Given the description of an element on the screen output the (x, y) to click on. 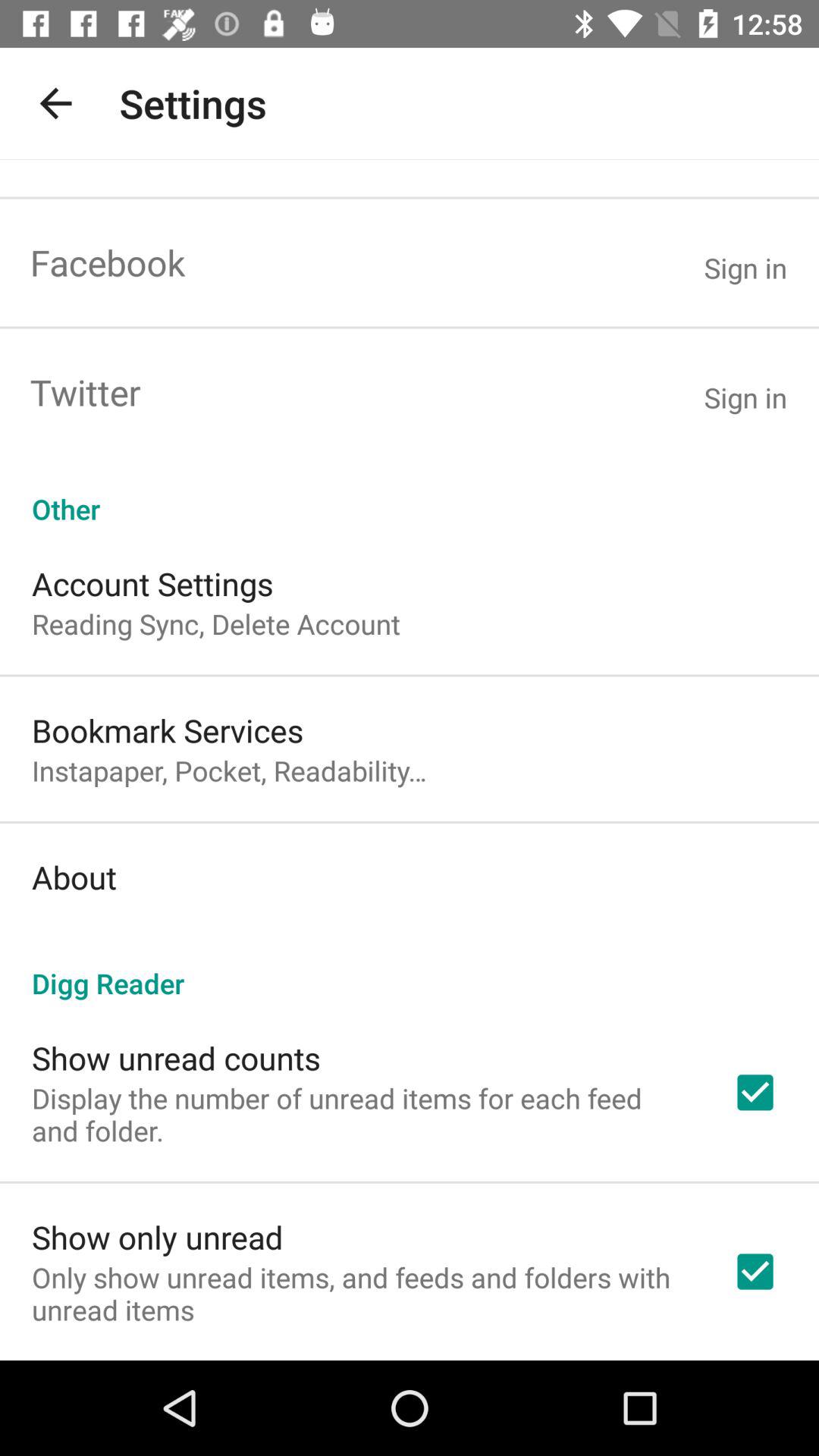
jump until bookmark services icon (167, 729)
